Given the description of an element on the screen output the (x, y) to click on. 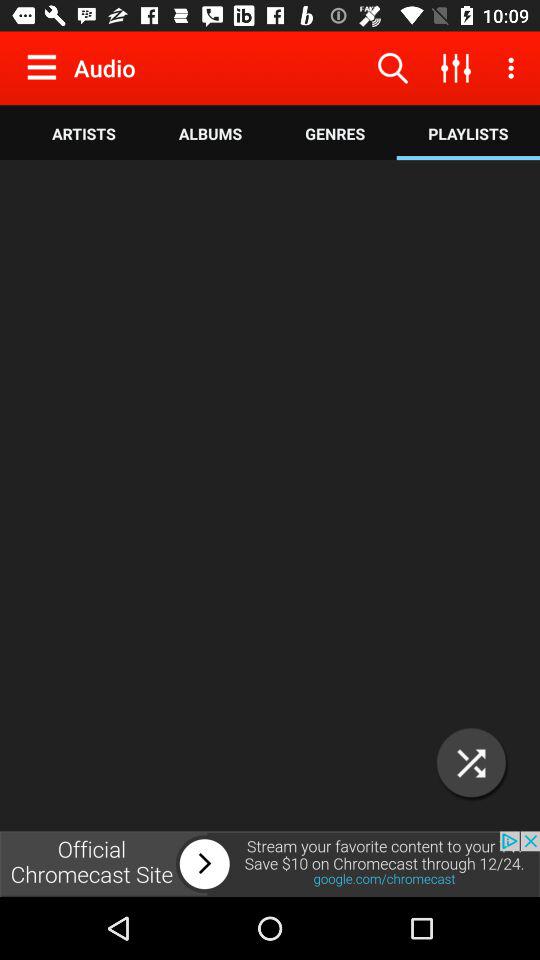
click to enlarge screen (471, 762)
